Given the description of an element on the screen output the (x, y) to click on. 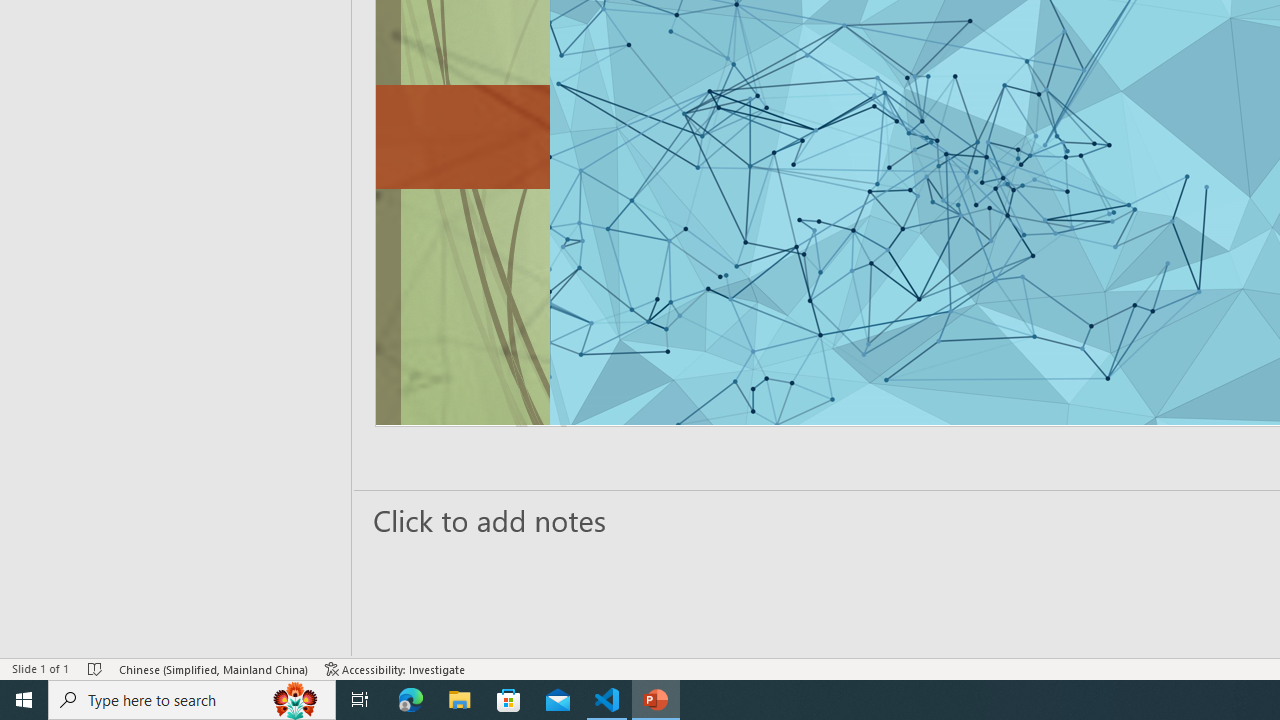
Accessibility Checker Accessibility: Investigate (395, 668)
Spell Check No Errors (95, 668)
